Given the description of an element on the screen output the (x, y) to click on. 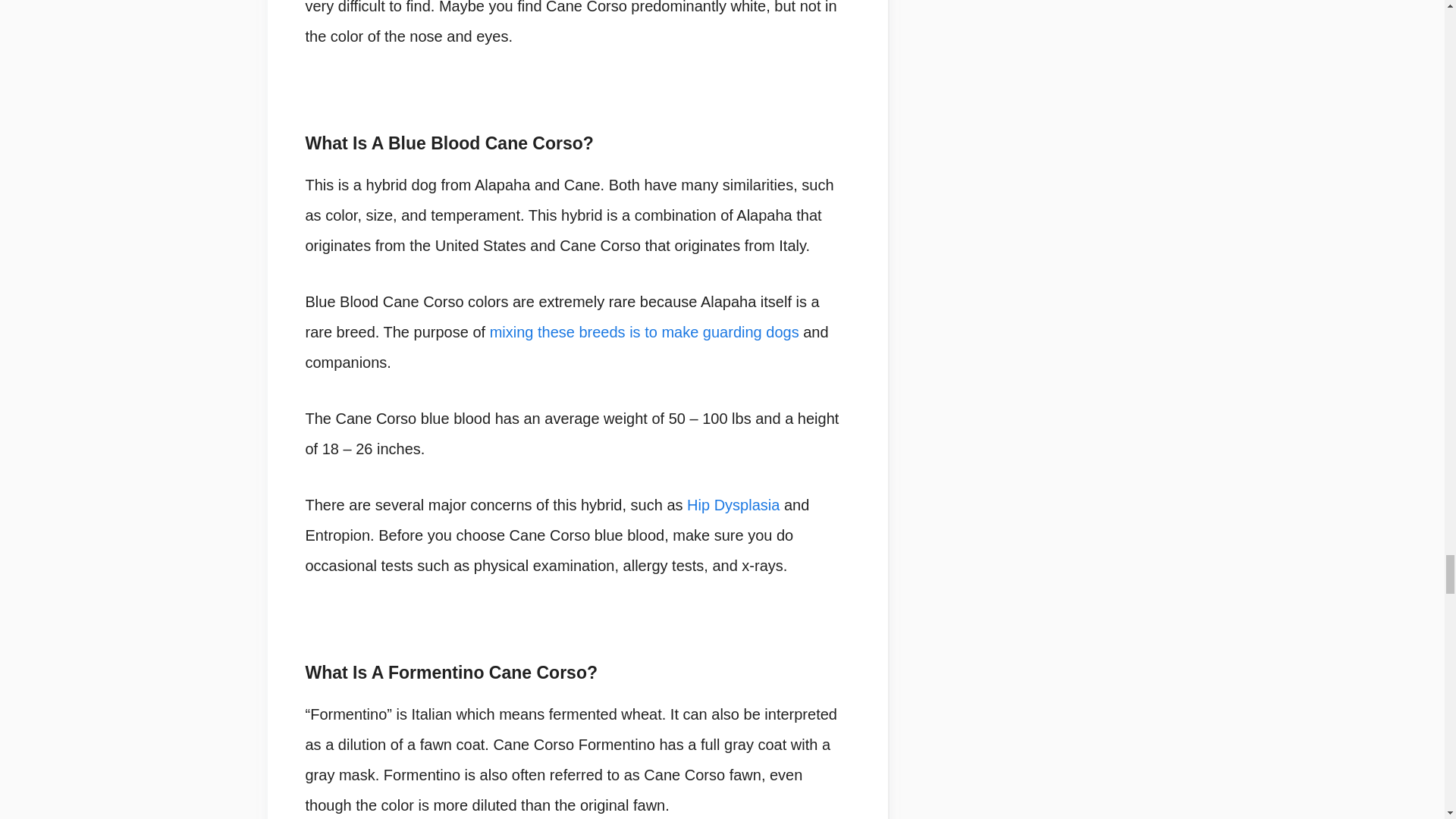
German Shepherd Husky Mix: 23 Cool Shepsky Facts (644, 331)
